Given the description of an element on the screen output the (x, y) to click on. 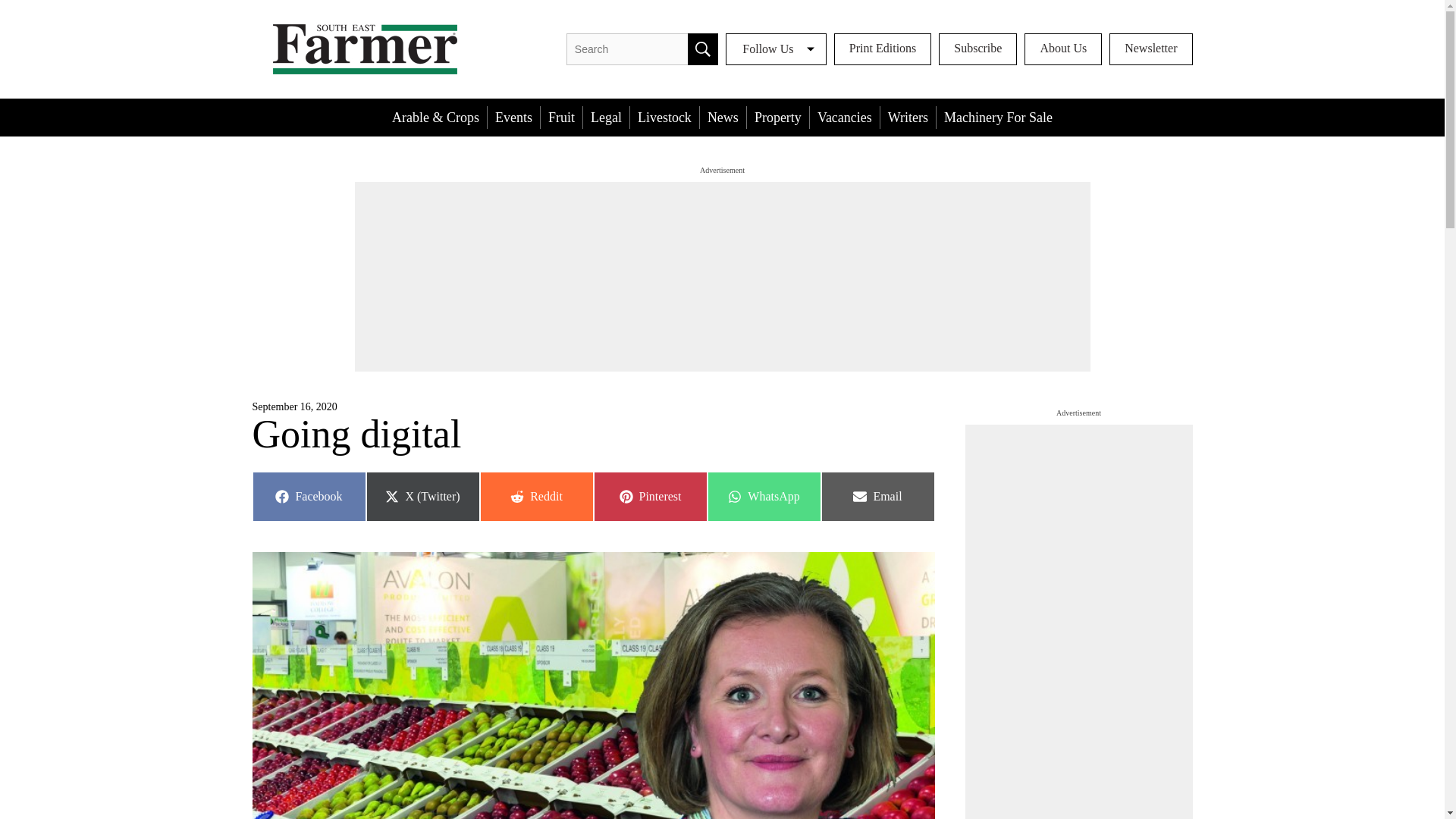
Vacancies (844, 117)
Newsletter (1150, 49)
Legal (605, 117)
Follow Us (776, 49)
Fruit (308, 496)
News (561, 117)
Livestock (722, 117)
Subscribe (664, 117)
